Given the description of an element on the screen output the (x, y) to click on. 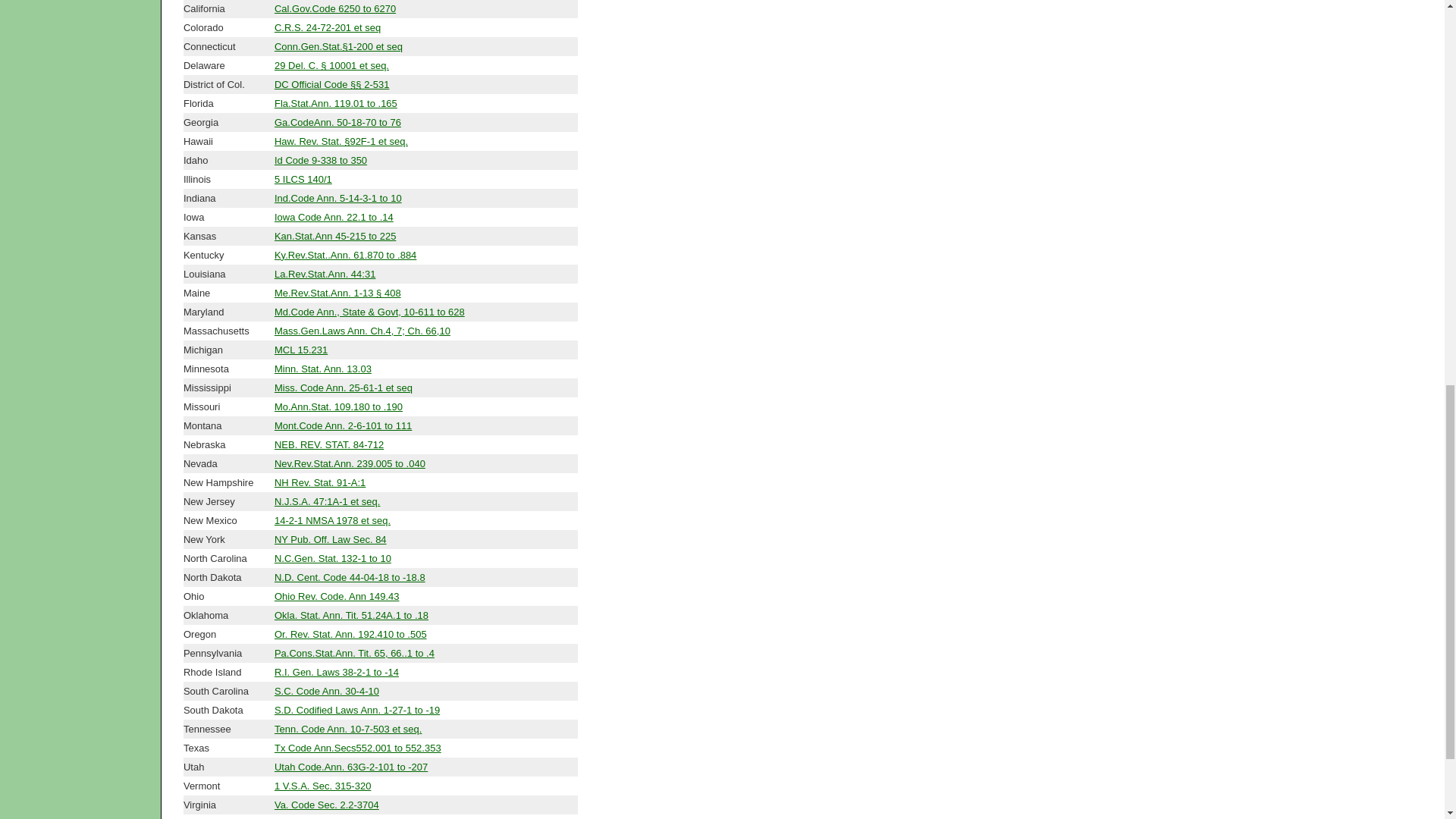
Iowa Code Ann. 22.1 to .14 (334, 216)
Ky.Rev.Stat..Ann. 61.870 to .884 (345, 255)
Fla.Stat.Ann. 119.01 to .165 (336, 102)
Ga.CodeAnn. 50-18-70 to 76 (338, 122)
Mo.Ann.Stat. 109.180 to .190 (339, 406)
Cal.Gov.Code 6250 to 6270 (335, 8)
Miss. Code Ann. 25-61-1 et seq (343, 387)
Kan.Stat.Ann 45-215 to 225 (335, 235)
Mont.Code Ann. 2-6-101 to 111 (343, 425)
La.Rev.Stat.Ann. 44:31 (325, 274)
